Given the description of an element on the screen output the (x, y) to click on. 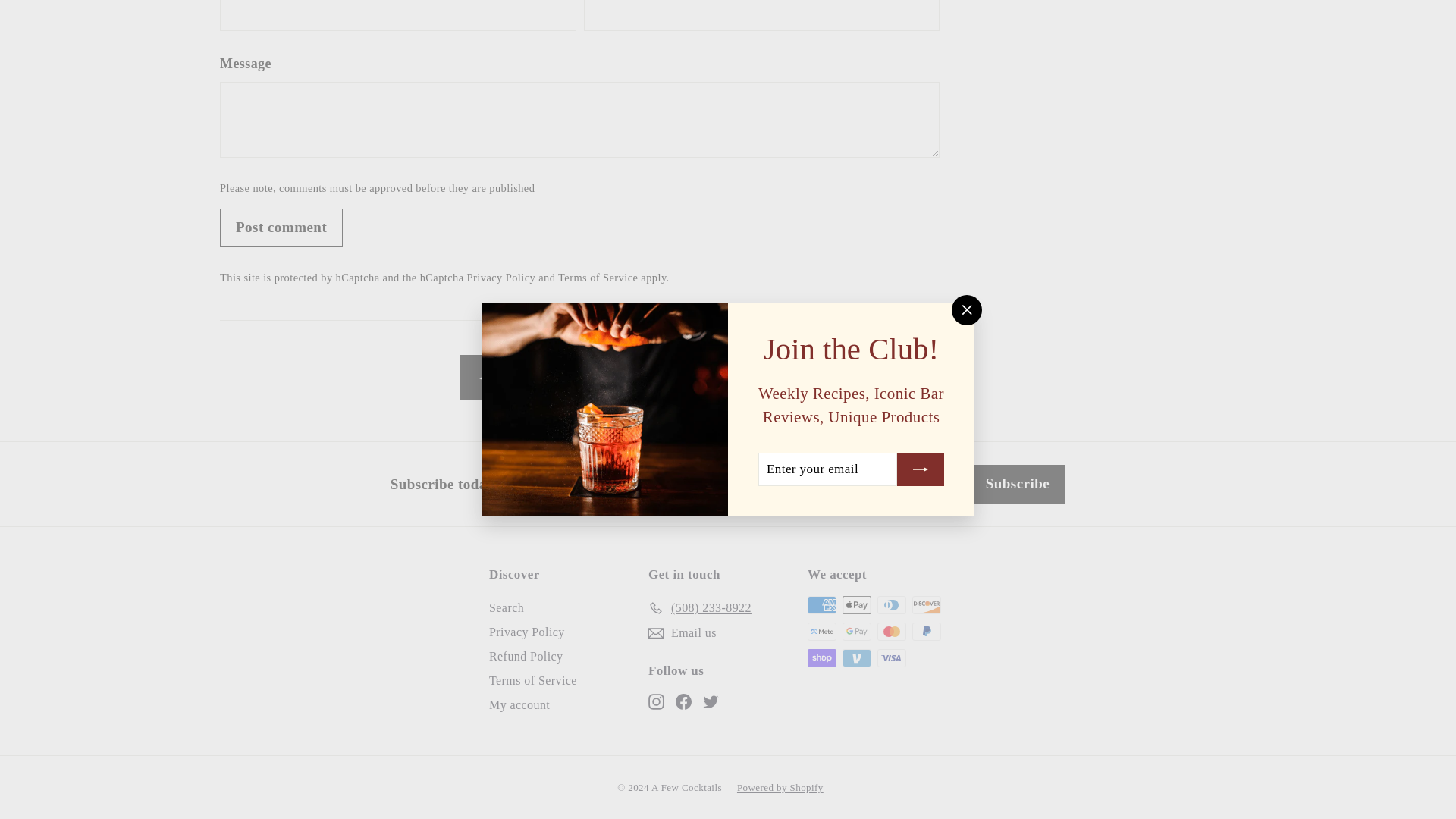
Mastercard (891, 631)
Shop Pay (821, 658)
Visa (891, 658)
Google Pay (856, 631)
Apple Pay (856, 605)
American Express (821, 605)
PayPal (926, 631)
Venmo (856, 658)
Meta Pay (821, 631)
Discover (926, 605)
Diners Club (891, 605)
